Given the description of an element on the screen output the (x, y) to click on. 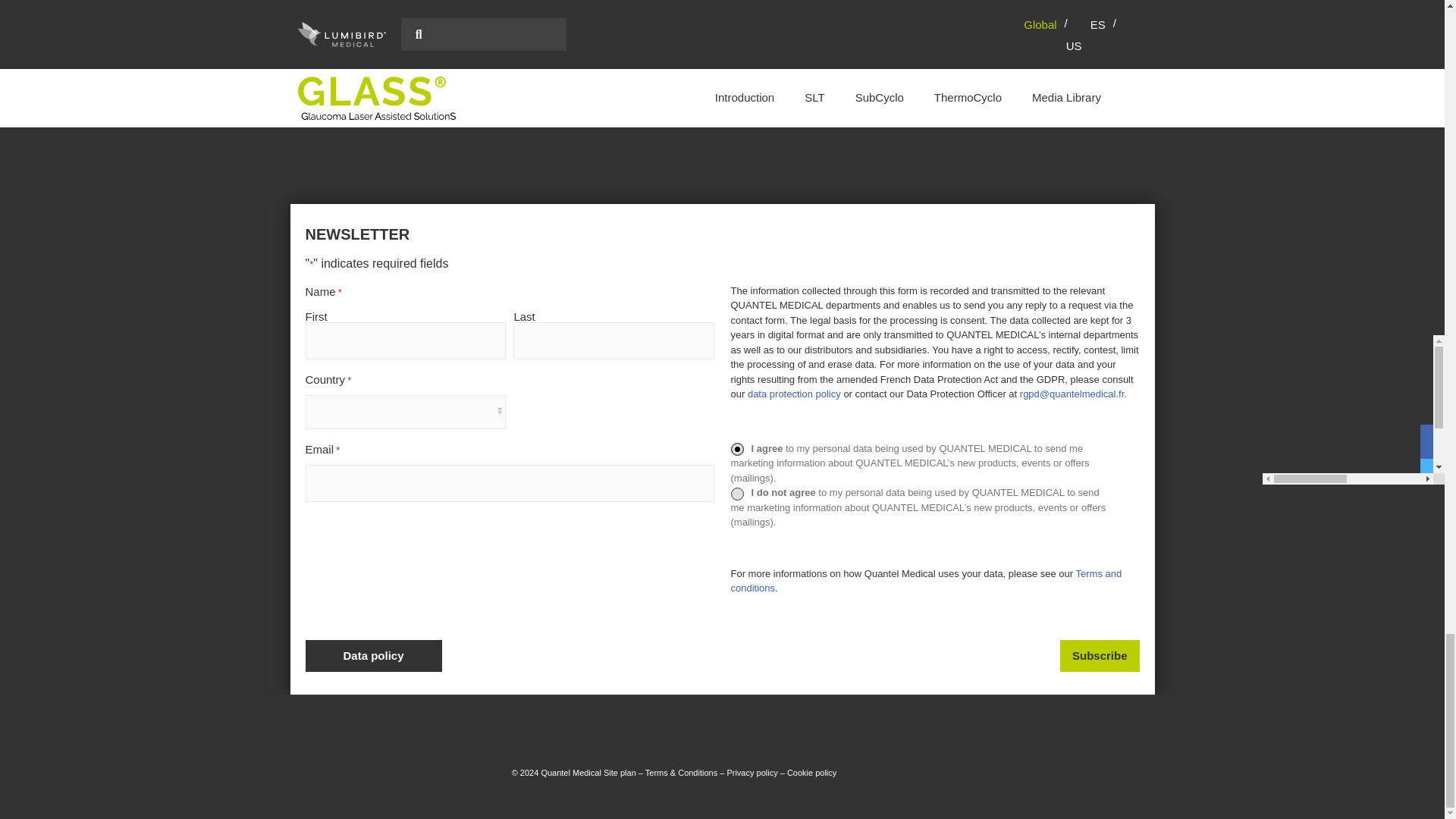
Subscribe (1099, 655)
